Given the description of an element on the screen output the (x, y) to click on. 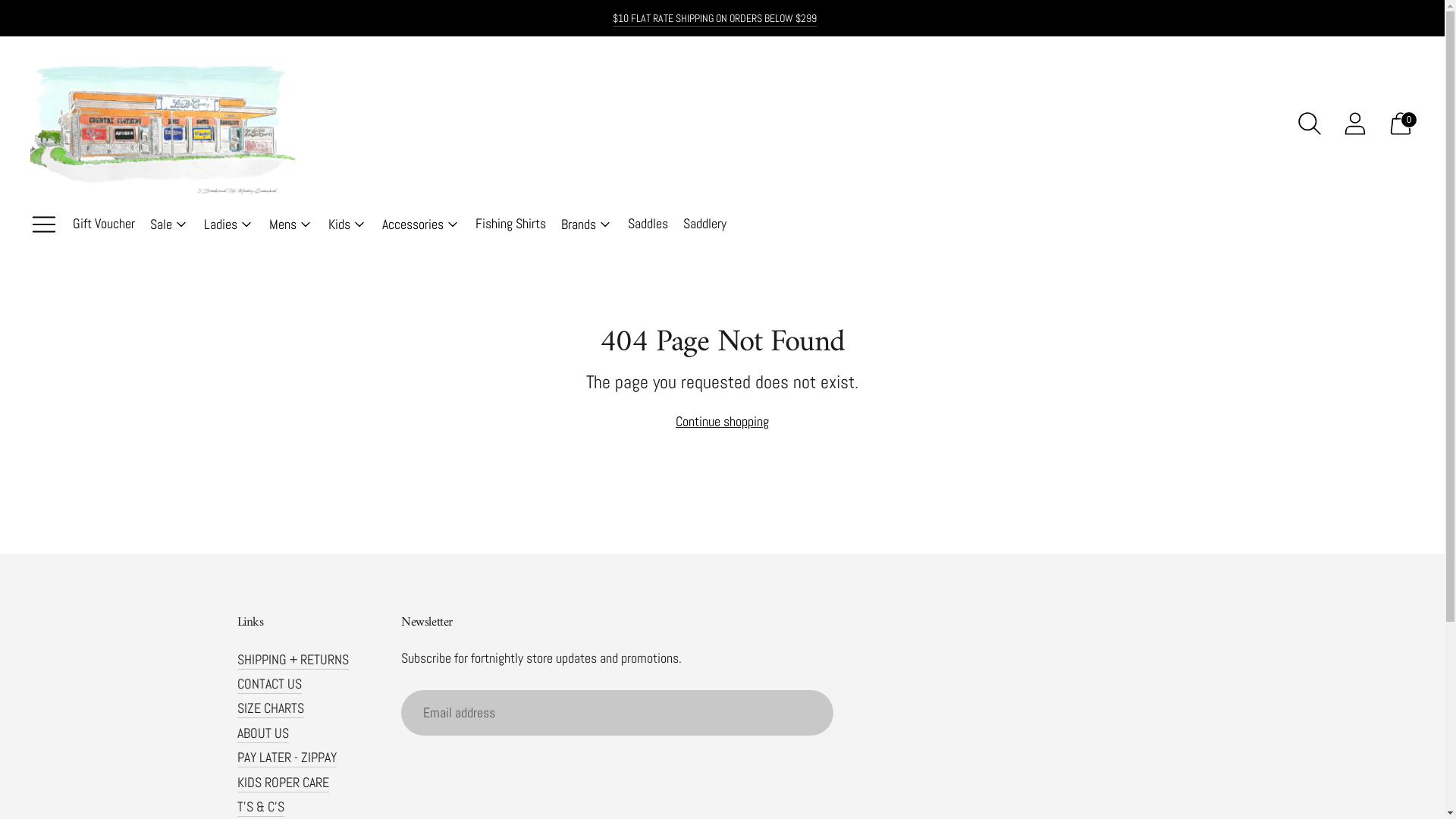
Accessories Element type: text (421, 224)
Brands Element type: text (586, 224)
Newsletter Element type: text (639, 623)
PAY LATER - ZIPPAY Element type: text (285, 756)
0 Element type: text (1400, 123)
Sale Element type: text (169, 224)
Mens Element type: text (291, 224)
Saddlery Element type: text (704, 224)
T'S & C'S Element type: text (259, 806)
Ladies Element type: text (228, 224)
SHIPPING + RETURNS Element type: text (292, 659)
KIDS ROPER CARE Element type: text (282, 781)
CONTACT US Element type: text (268, 683)
Fishing Shirts Element type: text (510, 224)
ABOUT US Element type: text (262, 732)
Links Element type: text (310, 623)
SIZE CHARTS Element type: text (269, 707)
Saddles Element type: text (647, 224)
$10 FLAT RATE SHIPPING ON ORDERS BELOW $299 Element type: text (714, 18)
Gift Voucher Element type: text (103, 224)
Continue shopping Element type: text (721, 421)
Kids Element type: text (347, 224)
